Given the description of an element on the screen output the (x, y) to click on. 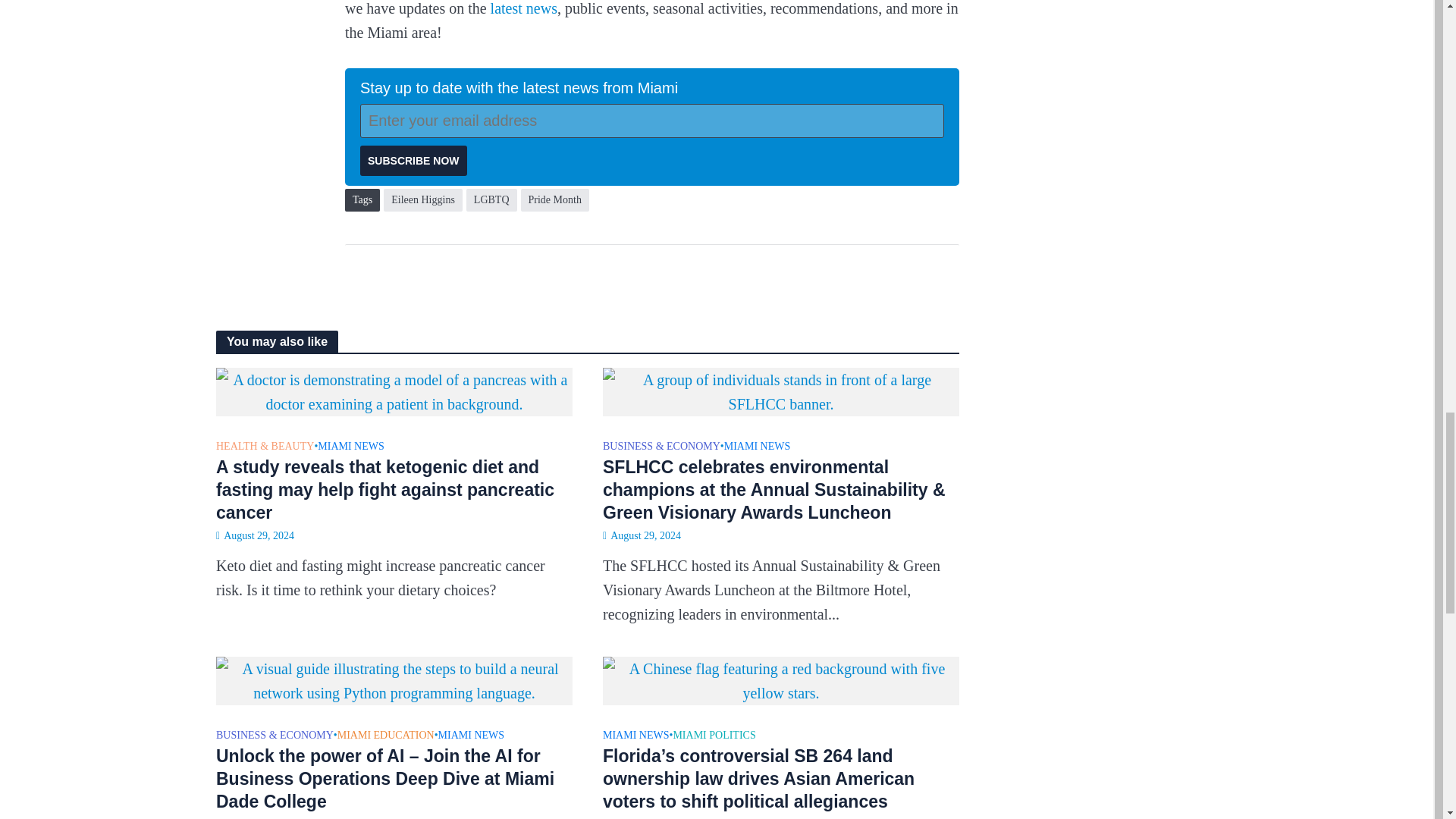
Subscribe Now (413, 160)
